Given the description of an element on the screen output the (x, y) to click on. 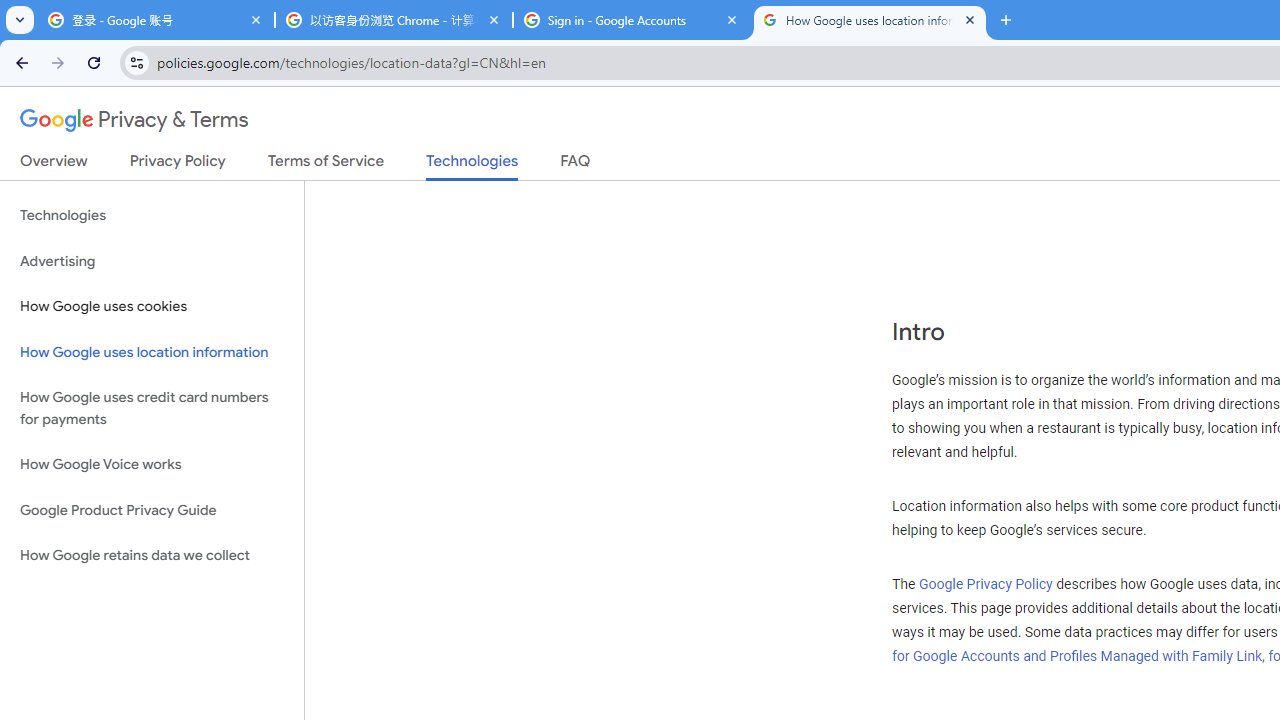
Advertising (152, 261)
How Google uses credit card numbers for payments (152, 408)
How Google Voice works (152, 465)
How Google retains data we collect (152, 555)
Sign in - Google Accounts (632, 20)
Google Privacy Policy (985, 584)
